Given the description of an element on the screen output the (x, y) to click on. 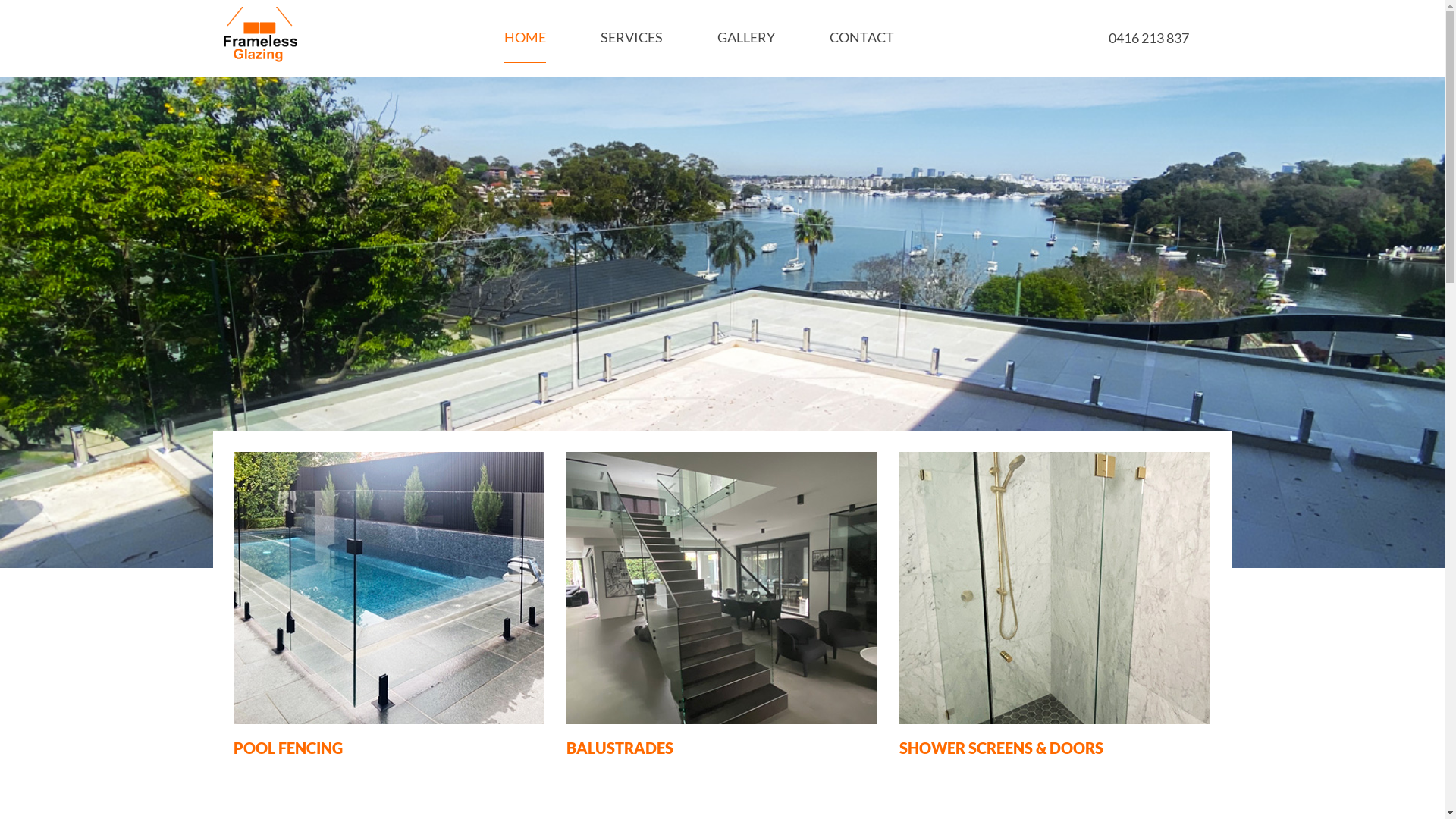
HOME Element type: text (525, 37)
GALLERY Element type: text (746, 37)
BALUSTRADES Element type: text (618, 747)
POOL FENCING Element type: text (287, 747)
Shower Screens & Doors Element type: hover (1054, 587)
0416 213 837 Element type: text (1148, 37)
Pool Fencing Element type: hover (388, 587)
SERVICES Element type: text (631, 37)
SHOWER SCREENS & DOORS Element type: text (1001, 747)
Balustrades Element type: hover (720, 587)
CONTACT Element type: text (861, 37)
